Given the description of an element on the screen output the (x, y) to click on. 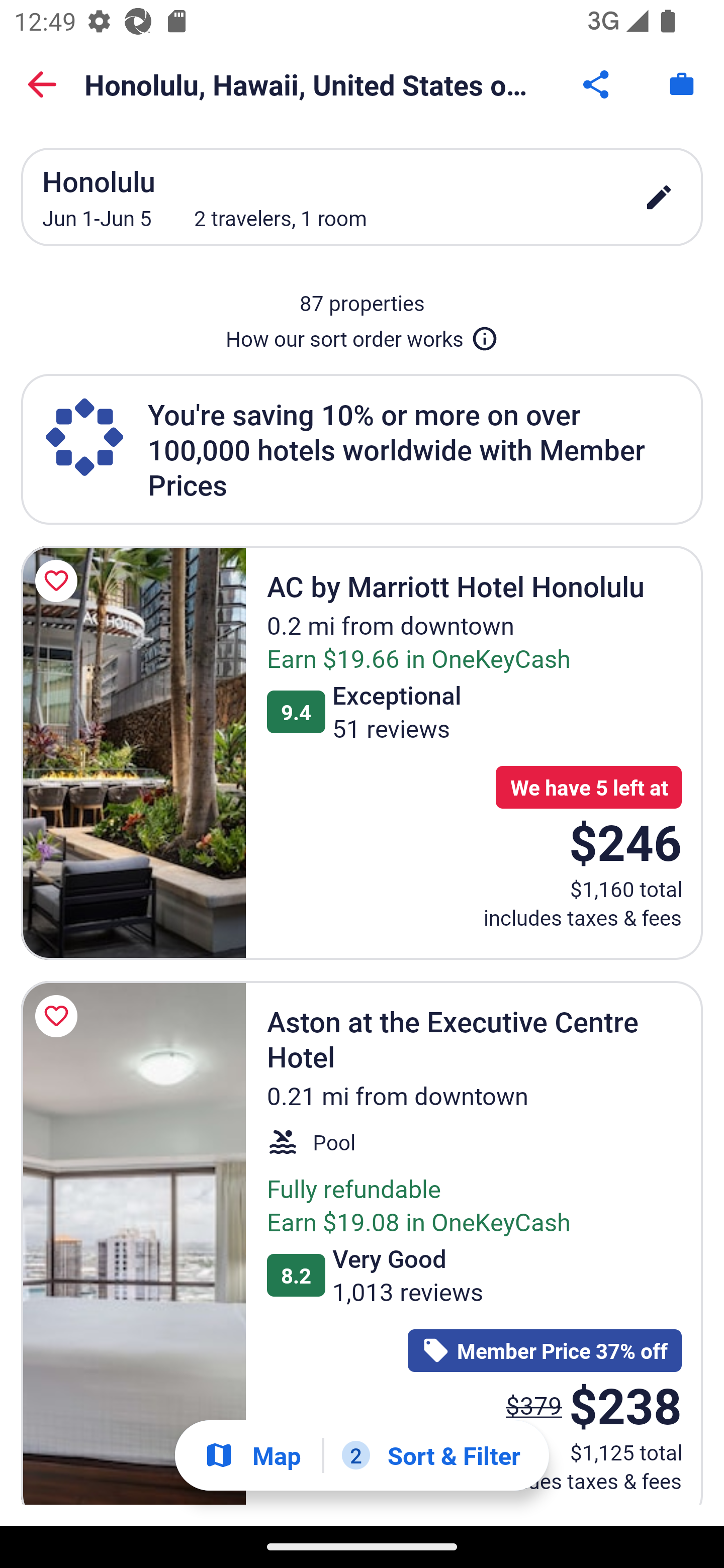
Back (42, 84)
Share Button (597, 84)
Trips. Button (681, 84)
Honolulu Jun 1-Jun 5 2 travelers, 1 room edit (361, 196)
How our sort order works (361, 334)
Save AC by Marriott Hotel Honolulu to a trip (59, 580)
AC by Marriott Hotel Honolulu (133, 752)
Save Aston at the Executive Centre Hotel to a trip (59, 1015)
Aston at the Executive Centre Hotel (133, 1243)
$379 The price was $379 (533, 1404)
2 Sort & Filter 2 Filters applied. Filters Button (430, 1455)
Show map Map Show map Button (252, 1455)
